Given the description of an element on the screen output the (x, y) to click on. 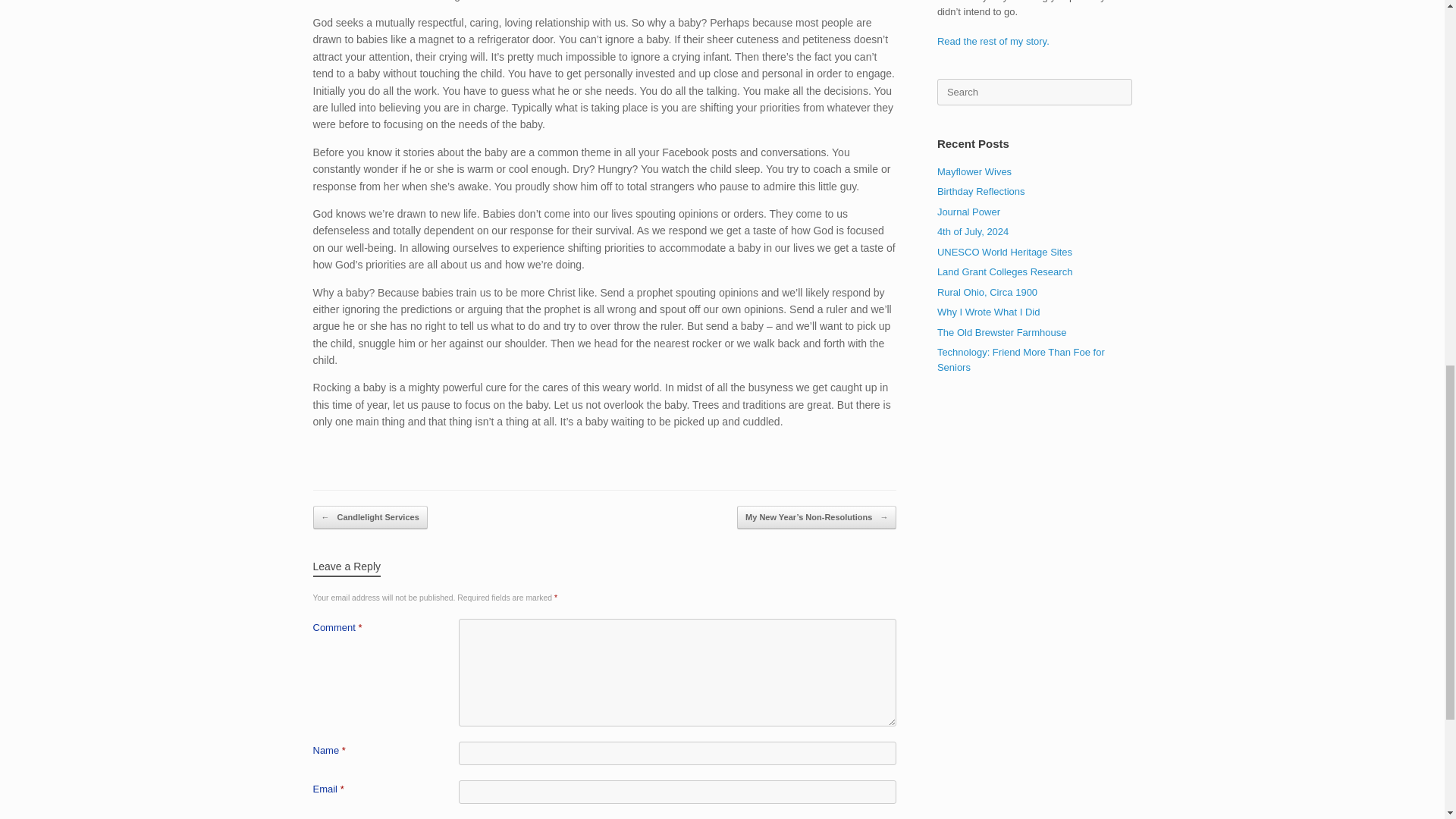
UNESCO World Heritage Sites (1004, 251)
Birthday Reflections (981, 191)
Journal Power (968, 211)
Read the rest of my story. (993, 41)
Land Grant Colleges Research (1005, 271)
4th of July, 2024 (973, 231)
Mayflower Wives (974, 171)
